Given the description of an element on the screen output the (x, y) to click on. 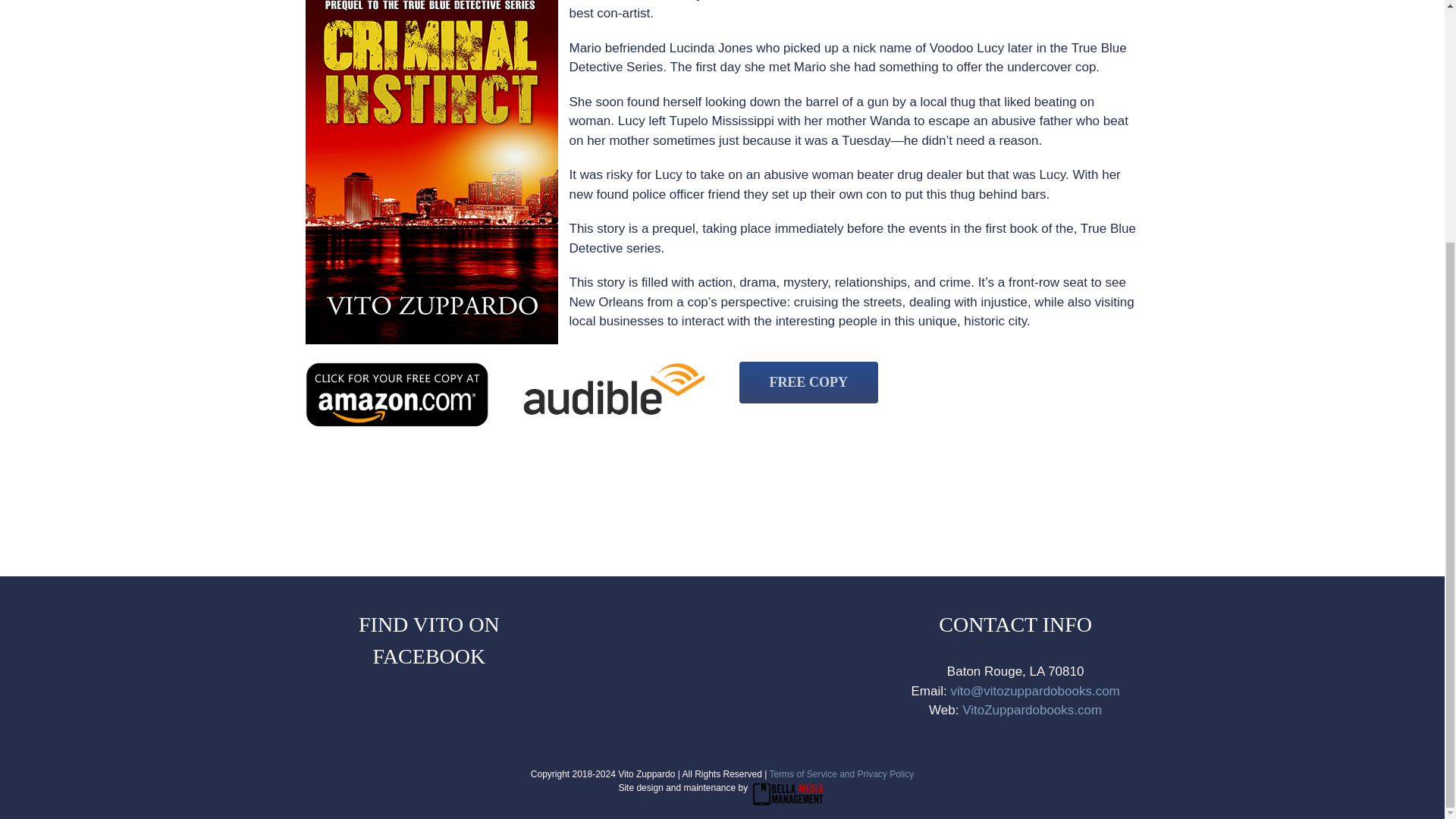
Terms of Service and Privacy Policy (841, 774)
FREE COPY (807, 381)
VitoZuppardobooks.com (1032, 709)
button-amazon-3-in-1-scale-free (395, 394)
